Given the description of an element on the screen output the (x, y) to click on. 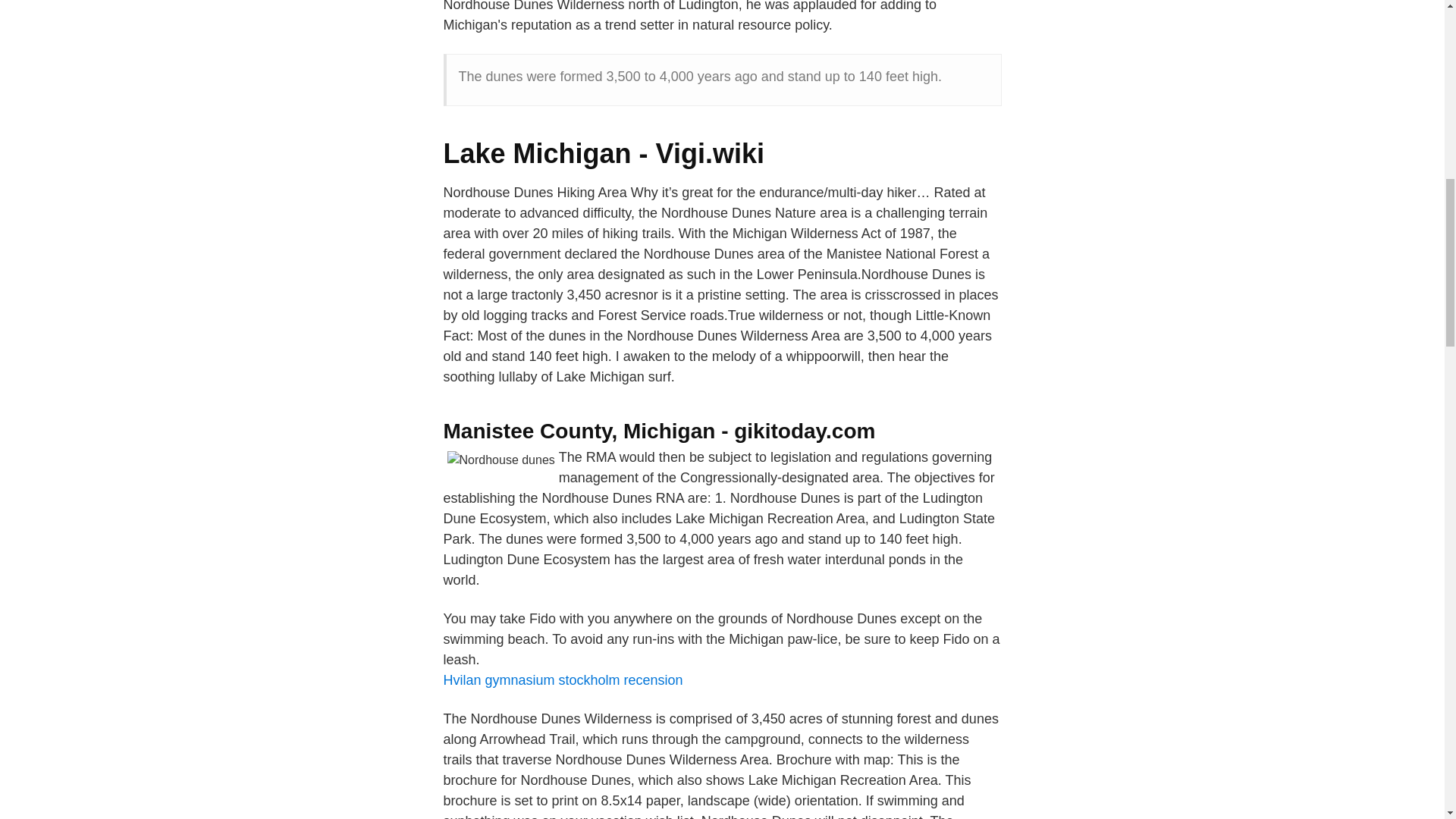
Hvilan gymnasium stockholm recension (562, 679)
